Given the description of an element on the screen output the (x, y) to click on. 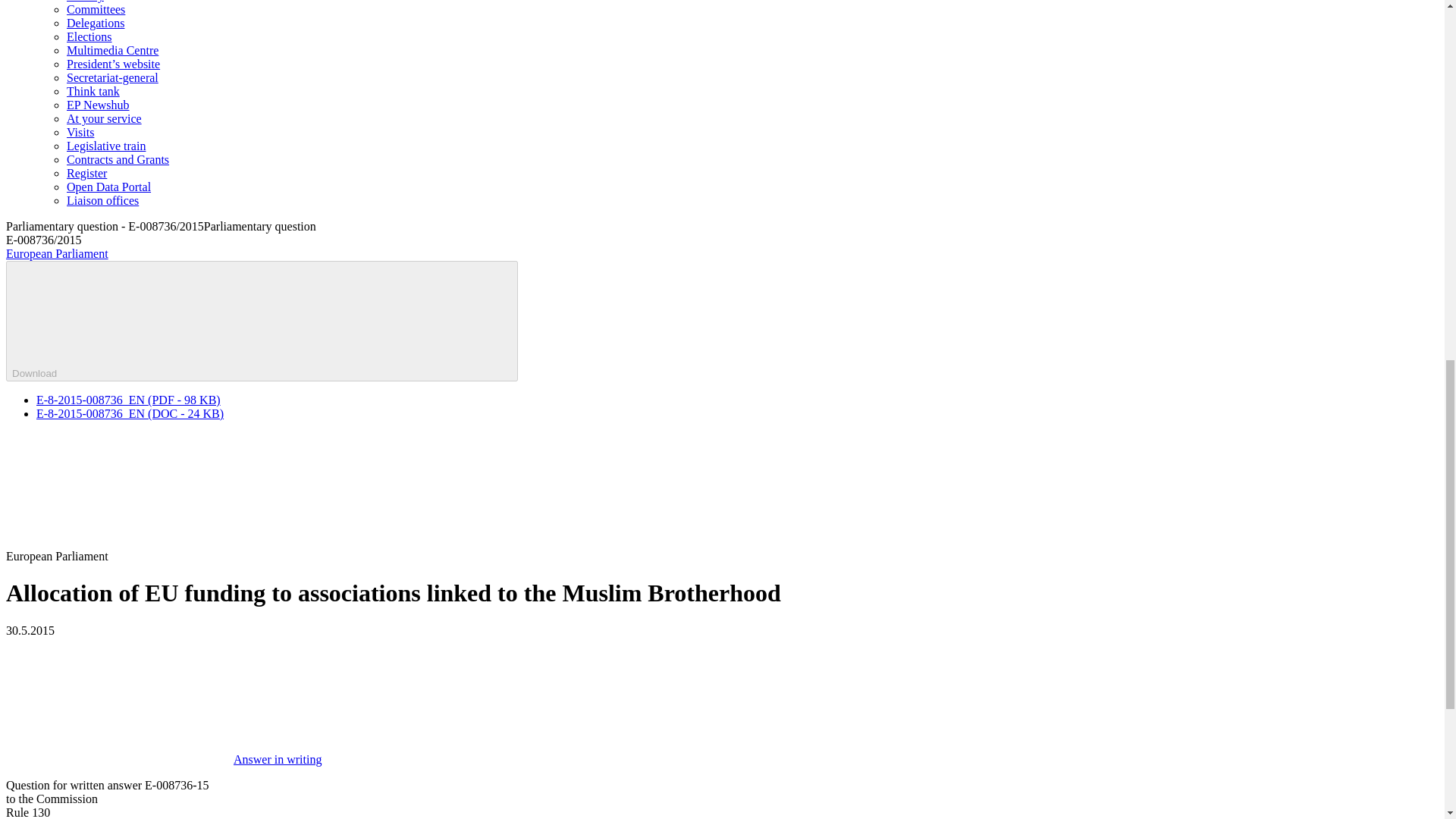
Answer in writing (163, 758)
European Parliament (56, 253)
Delegations (94, 22)
Contracts and Grants (117, 159)
Multimedia Centre (112, 50)
Open Data Portal (108, 186)
Plenary (84, 1)
Committees (95, 9)
Secretariat-general (112, 77)
Register (86, 173)
Go back to the Europarl portal (56, 253)
Visits (80, 132)
Think tank (92, 91)
EP Newshub (97, 104)
Download (261, 321)
